Given the description of an element on the screen output the (x, y) to click on. 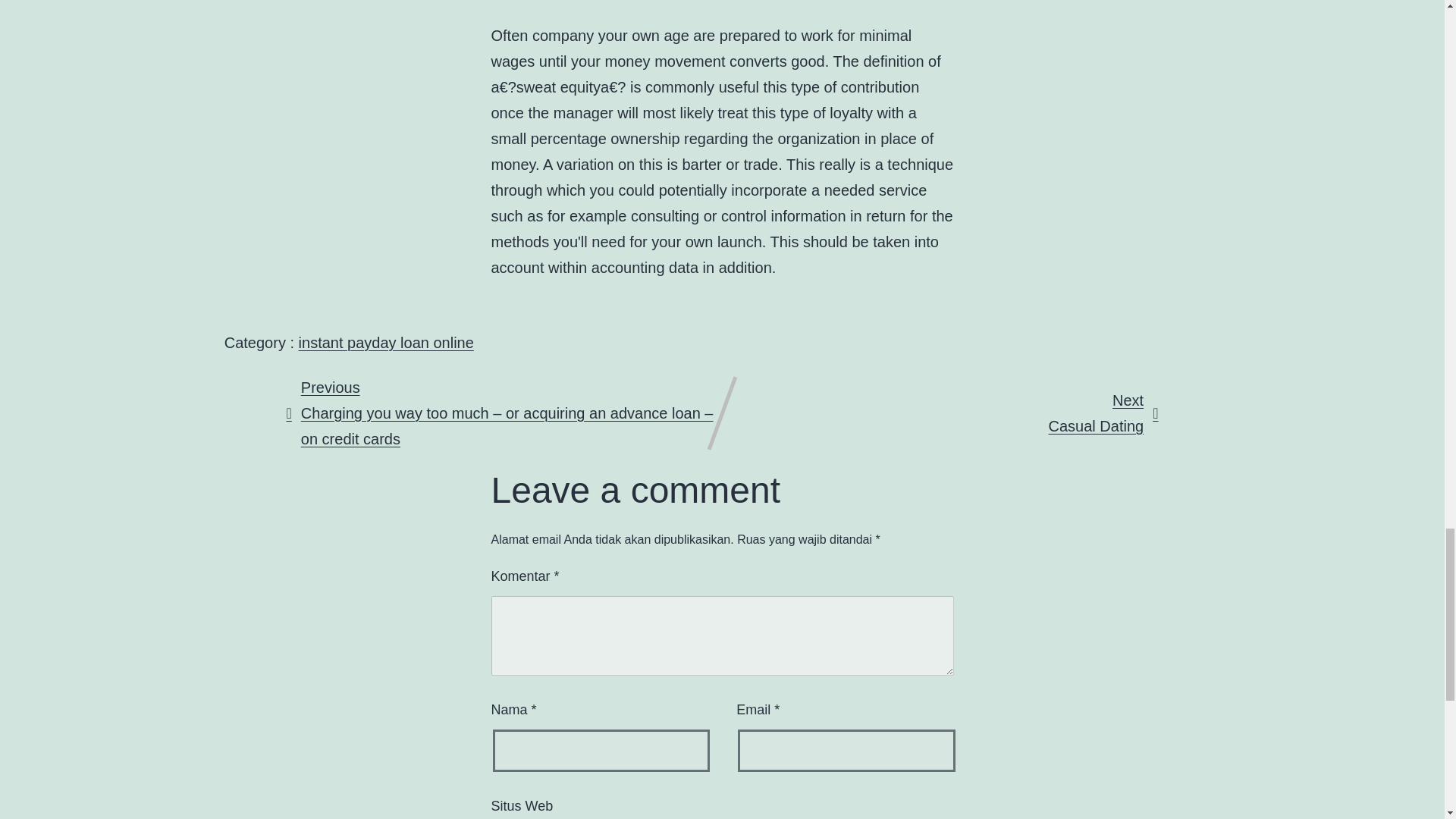
instant payday loan online (386, 342)
